Given the description of an element on the screen output the (x, y) to click on. 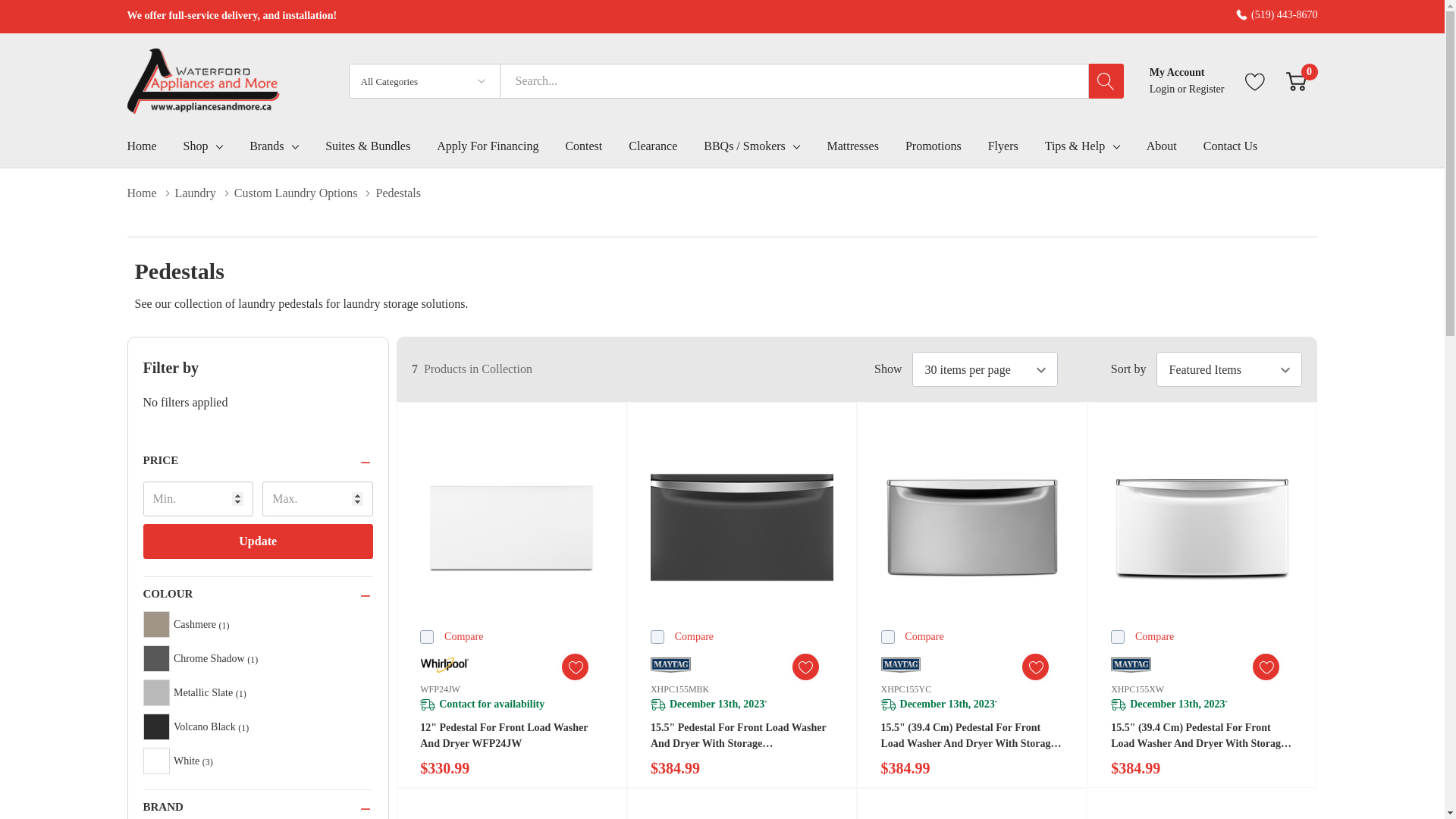
Mattresses Element type: text (865, 147)
Laundry Element type: text (204, 192)
12" Pedestal for Front Load Washer and Dryer WFP24JW Element type: hover (511, 527)
12" Pedestal For Front Load Washer And Dryer WFP24JW Element type: text (511, 735)
Apply For Financing Element type: text (500, 147)
About Element type: text (1174, 147)
Tips & Help Element type: text (1074, 146)
Brands Element type: text (266, 146)
White (3) Element type: text (257, 760)
Clearance Element type: text (665, 147)
Home Element type: text (151, 192)
Contact Us Element type: text (1243, 147)
Promotions Element type: text (946, 147)
Home Element type: text (155, 147)
Register Element type: text (1206, 88)
Flyers Element type: text (1016, 147)
Contest Element type: text (596, 147)
XHPC155XW Element type: text (1137, 689)
(519) 443-8670 Element type: text (1276, 14)
XHPC155MBK Element type: text (679, 689)
0 Element type: text (1296, 81)
Metallic Slate (1) Element type: text (257, 692)
Shop Element type: text (195, 146)
WFP24JW Element type: text (440, 689)
Custom Laundry Options Element type: text (305, 192)
Login Element type: text (1163, 88)
Update Element type: text (257, 541)
BBQs / Smokers Element type: text (744, 146)
Chrome Shadow (1) Element type: text (257, 658)
Cashmere (1) Element type: text (257, 624)
XHPC155YC Element type: text (906, 689)
Waterford Appliances Element type: hover (203, 80)
Volcano Black (1) Element type: text (257, 726)
Suites & Bundles Element type: text (380, 147)
